Given the description of an element on the screen output the (x, y) to click on. 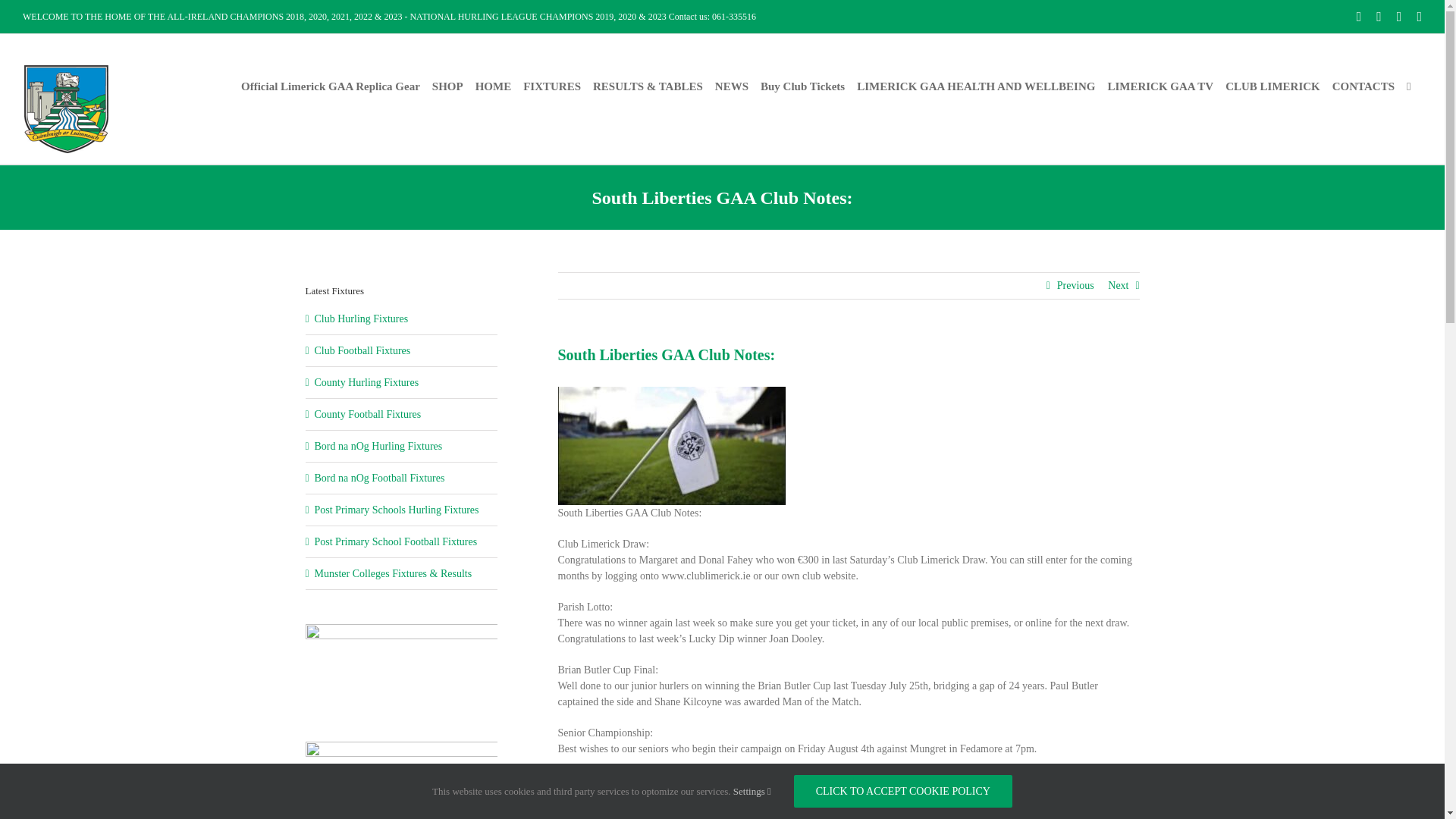
HOME (494, 85)
NEWS (731, 85)
SHOP (447, 85)
Buy Club Tickets (802, 85)
Official Limerick GAA Replica Gear (330, 85)
LIMERICK GAA HEALTH AND WELLBEING (975, 85)
Instagram (1378, 16)
YouTube (1419, 16)
Twitter (1399, 16)
FIXTURES (551, 85)
Facebook (1358, 16)
Posts by PRO (579, 783)
